Given the description of an element on the screen output the (x, y) to click on. 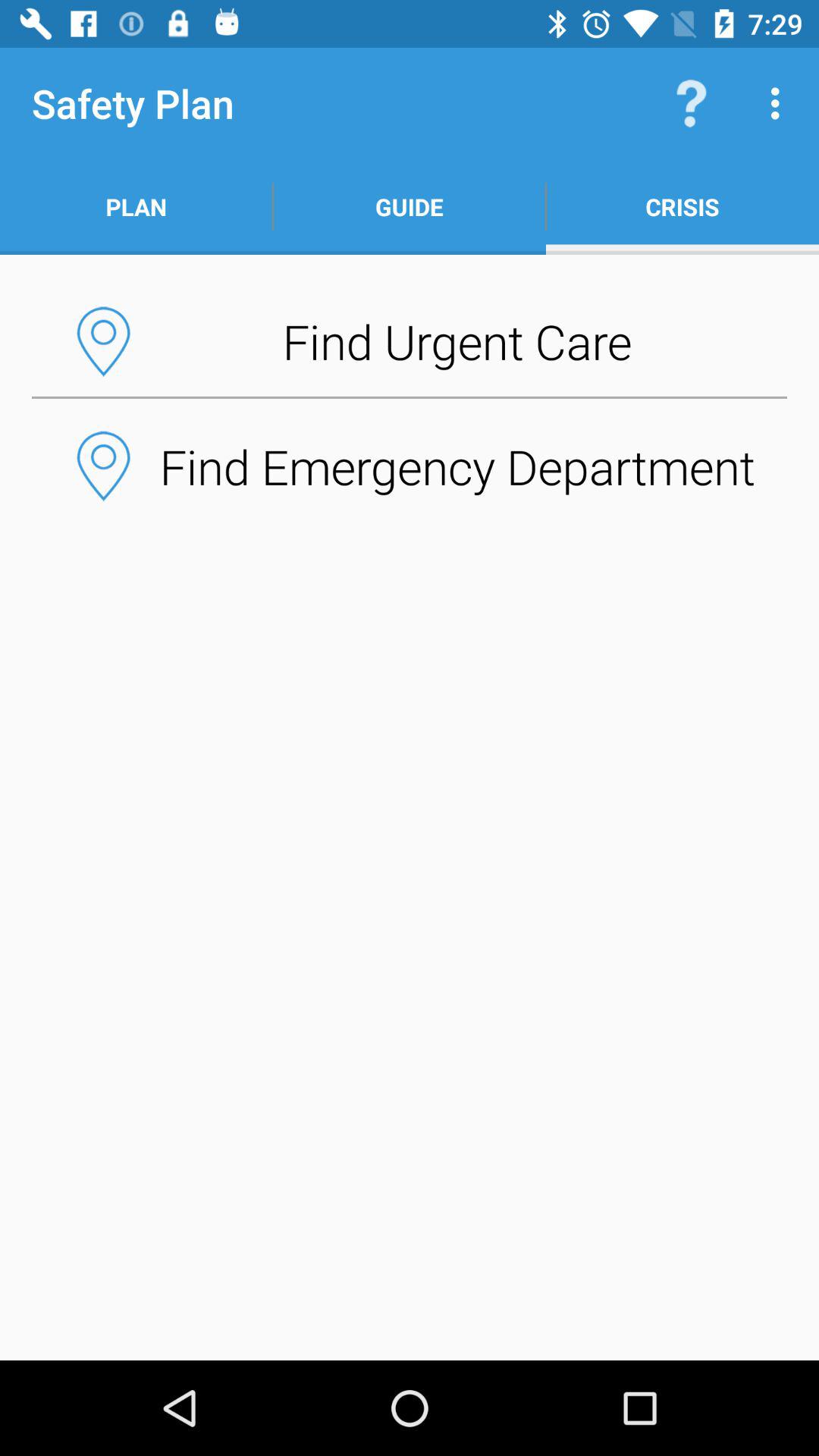
turn off button above find urgent care icon (409, 206)
